Given the description of an element on the screen output the (x, y) to click on. 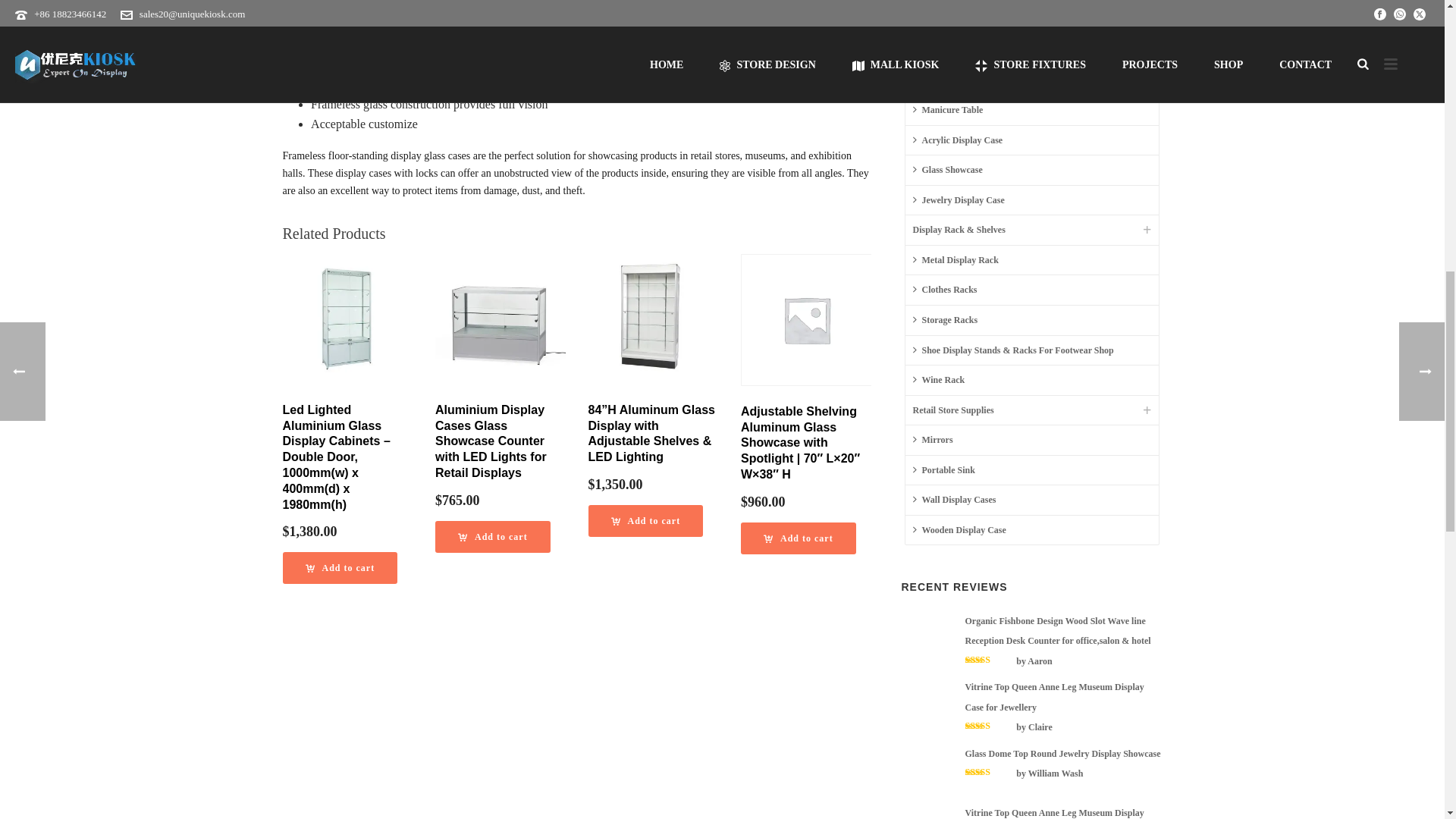
Rated 5 out of 5 (988, 659)
Rated 5 out of 5 (988, 725)
Rated 5 out of 5 (988, 771)
